Given the description of an element on the screen output the (x, y) to click on. 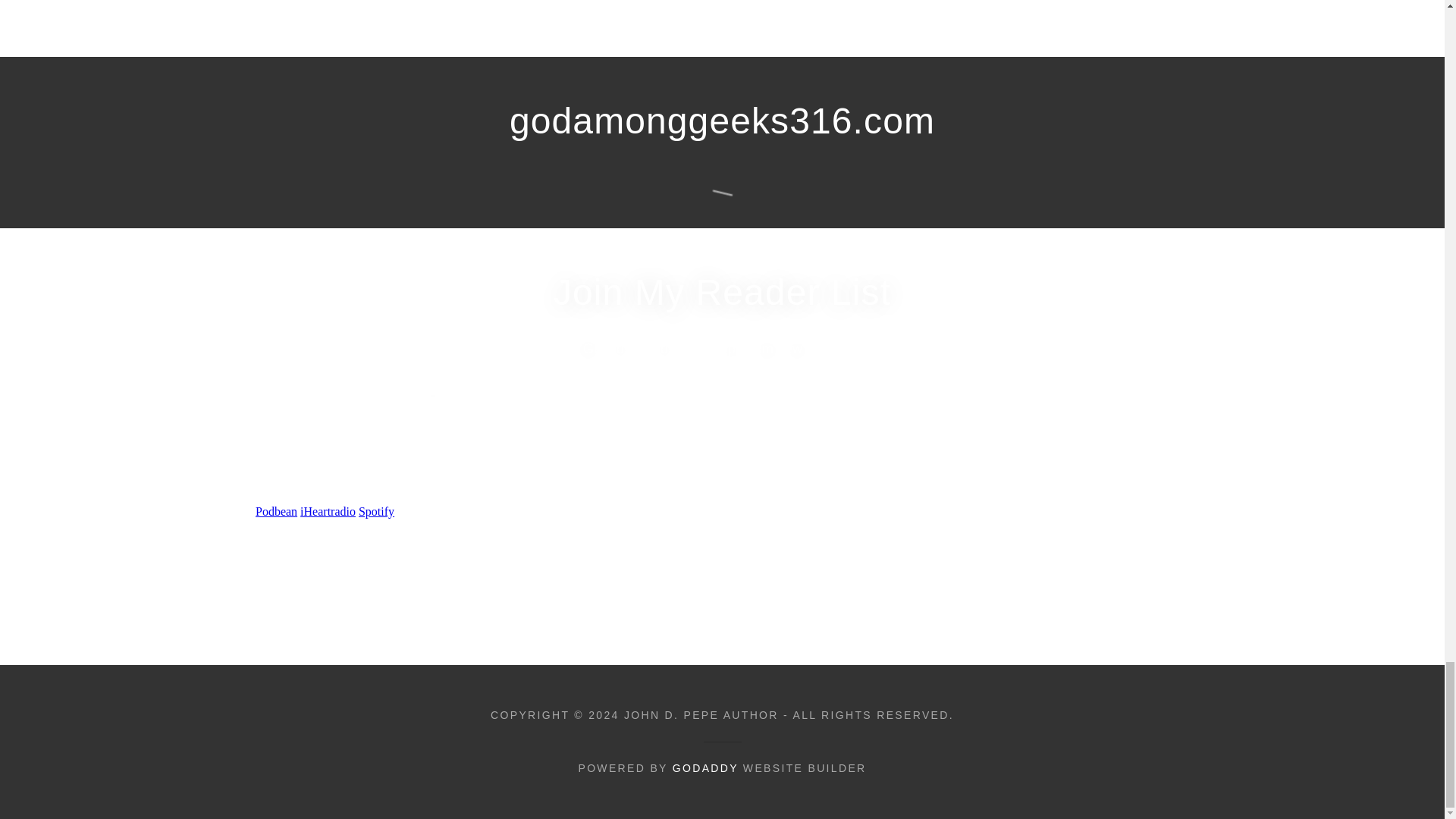
GODADDY (705, 767)
SIGN UP (964, 395)
